Given the description of an element on the screen output the (x, y) to click on. 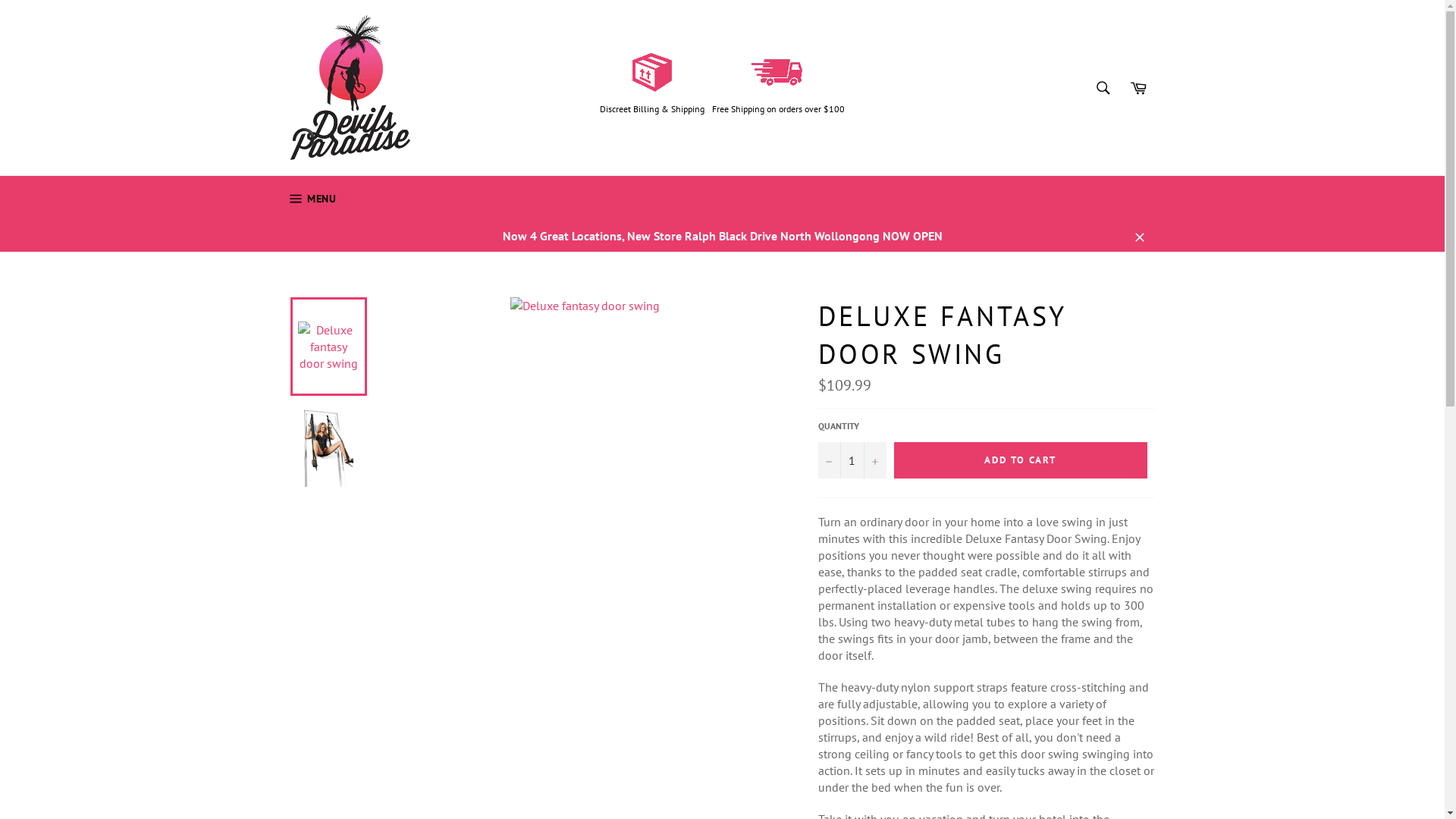
Close Element type: text (1138, 235)
Cart Element type: text (1138, 87)
MENU
SITE NAVIGATION Element type: text (311, 198)
+ Element type: text (873, 460)
Discreet Billing & Shipping Element type: text (651, 108)
Search Element type: text (1103, 87)
Free Shipping on orders over $100 Element type: text (778, 108)
ADD TO CART Element type: text (1019, 460)
